Given the description of an element on the screen output the (x, y) to click on. 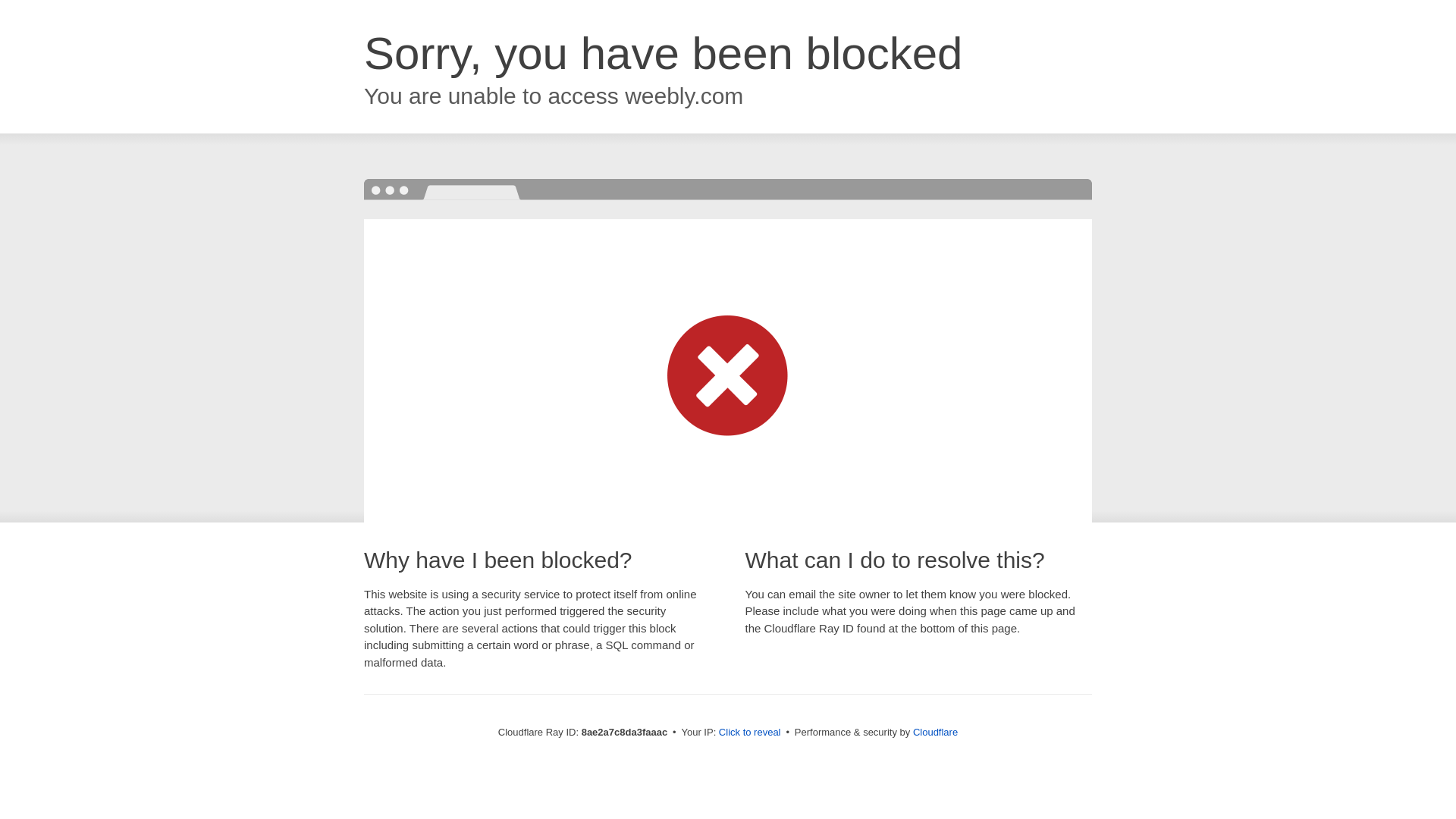
Click to reveal (749, 732)
Cloudflare (935, 731)
